Given the description of an element on the screen output the (x, y) to click on. 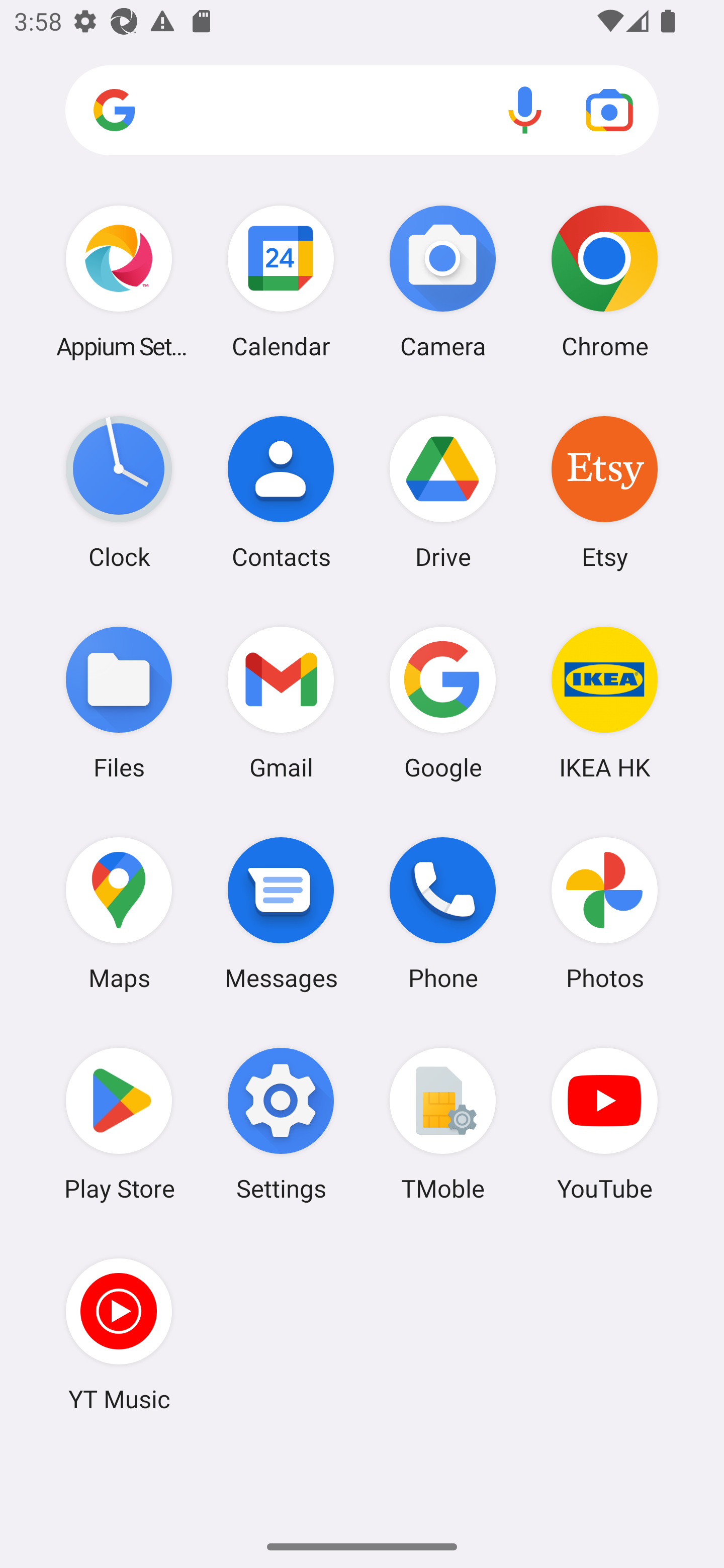
Search apps, web and more (361, 110)
Voice search (524, 109)
Google Lens (608, 109)
Appium Settings (118, 281)
Calendar (280, 281)
Camera (443, 281)
Chrome (604, 281)
Clock (118, 492)
Contacts (280, 492)
Drive (443, 492)
Etsy (604, 492)
Files (118, 702)
Gmail (280, 702)
Google (443, 702)
IKEA HK (604, 702)
Maps (118, 913)
Messages (280, 913)
Phone (443, 913)
Photos (604, 913)
Play Store (118, 1124)
Settings (280, 1124)
TMoble (443, 1124)
YouTube (604, 1124)
YT Music (118, 1334)
